Given the description of an element on the screen output the (x, y) to click on. 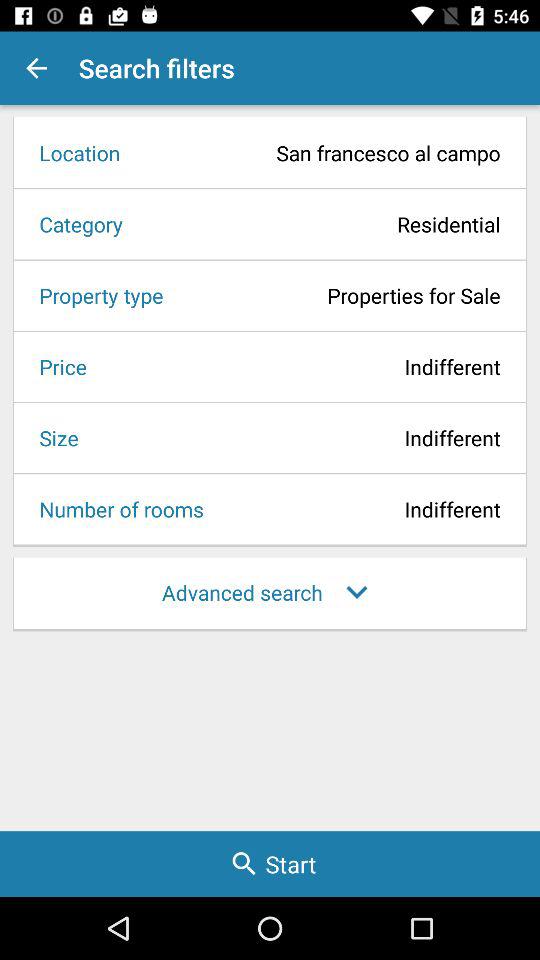
tap the icon next to search filters icon (36, 68)
